Given the description of an element on the screen output the (x, y) to click on. 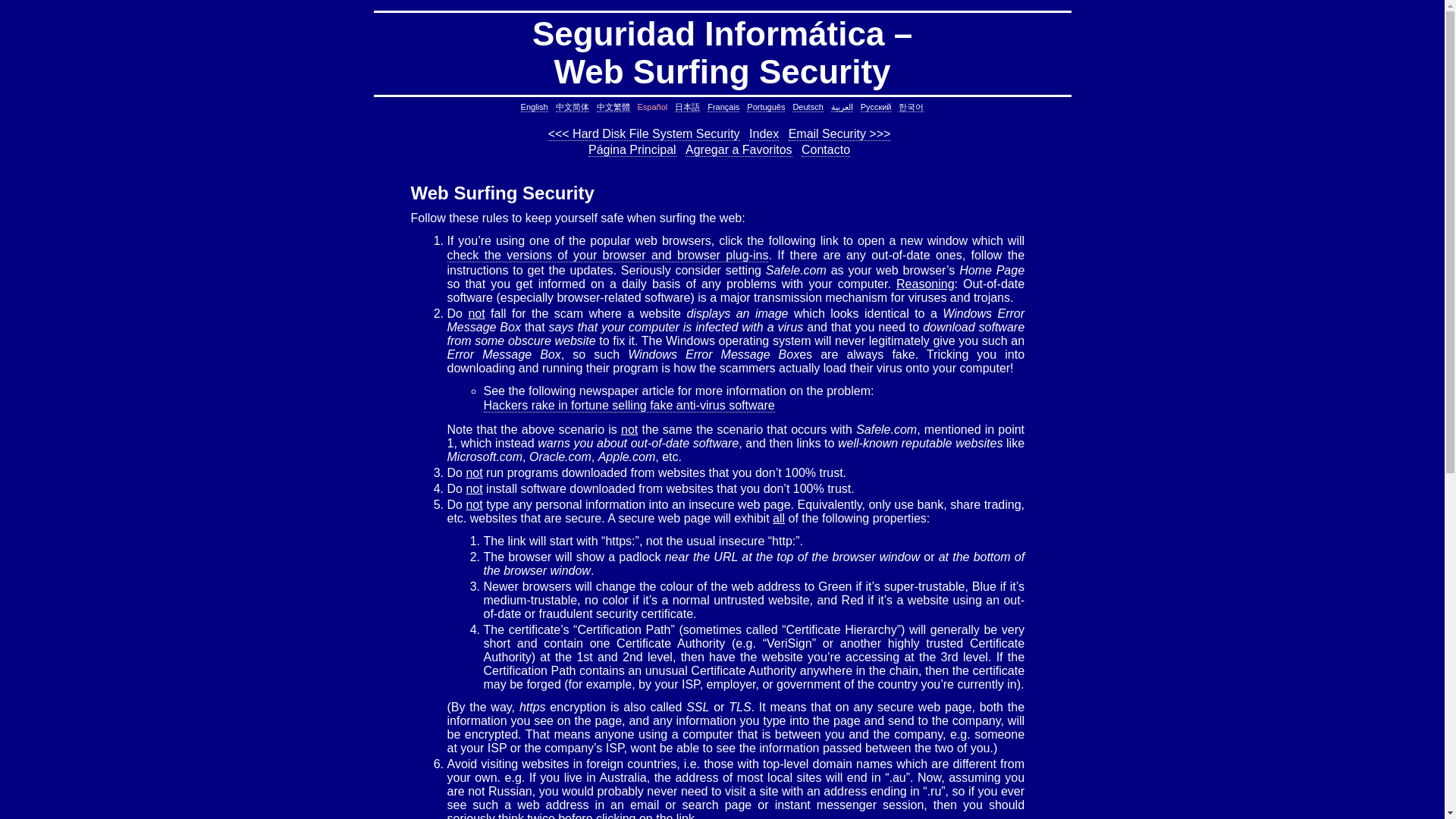
Agregar a Favoritos (738, 150)
Deutsch (807, 107)
Index (763, 133)
Contacto (826, 150)
Hard Disk File System Security (643, 133)
Email Security (840, 133)
Agregar a Favoritos (738, 150)
Index (763, 133)
English (534, 107)
Safele.com Safe Search (607, 255)
Hackers rake in fortune selling fake anti-virus software (628, 405)
check the versions of your browser and browser plug-ins (607, 255)
Contacto (826, 150)
Newspaper article on fake Anti-Virus Software (628, 405)
